Given the description of an element on the screen output the (x, y) to click on. 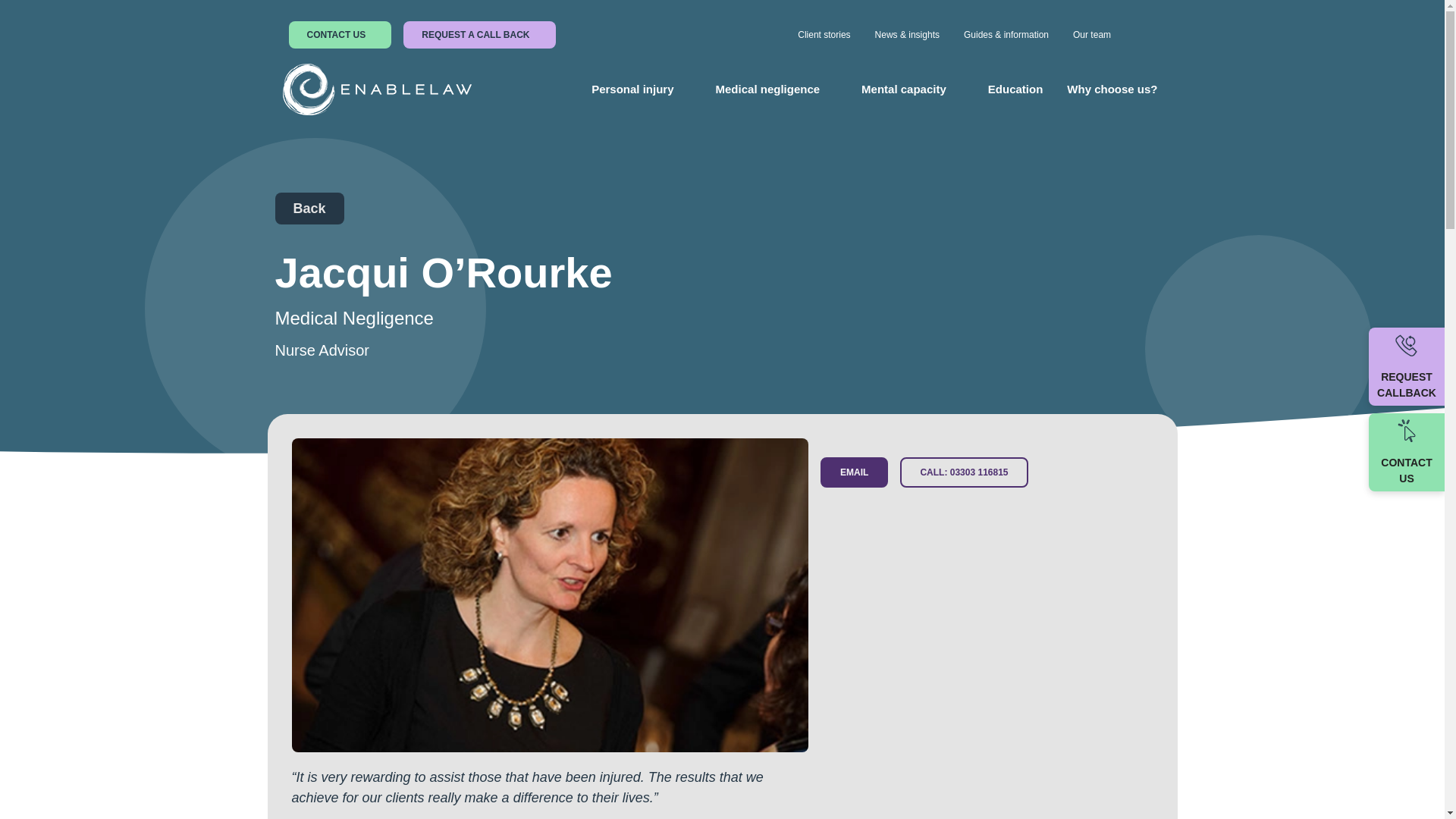
CONTACT US (339, 34)
Personal injury (631, 89)
Client stories (823, 34)
Our team (1096, 34)
REQUEST A CALL BACK (478, 34)
